Given the description of an element on the screen output the (x, y) to click on. 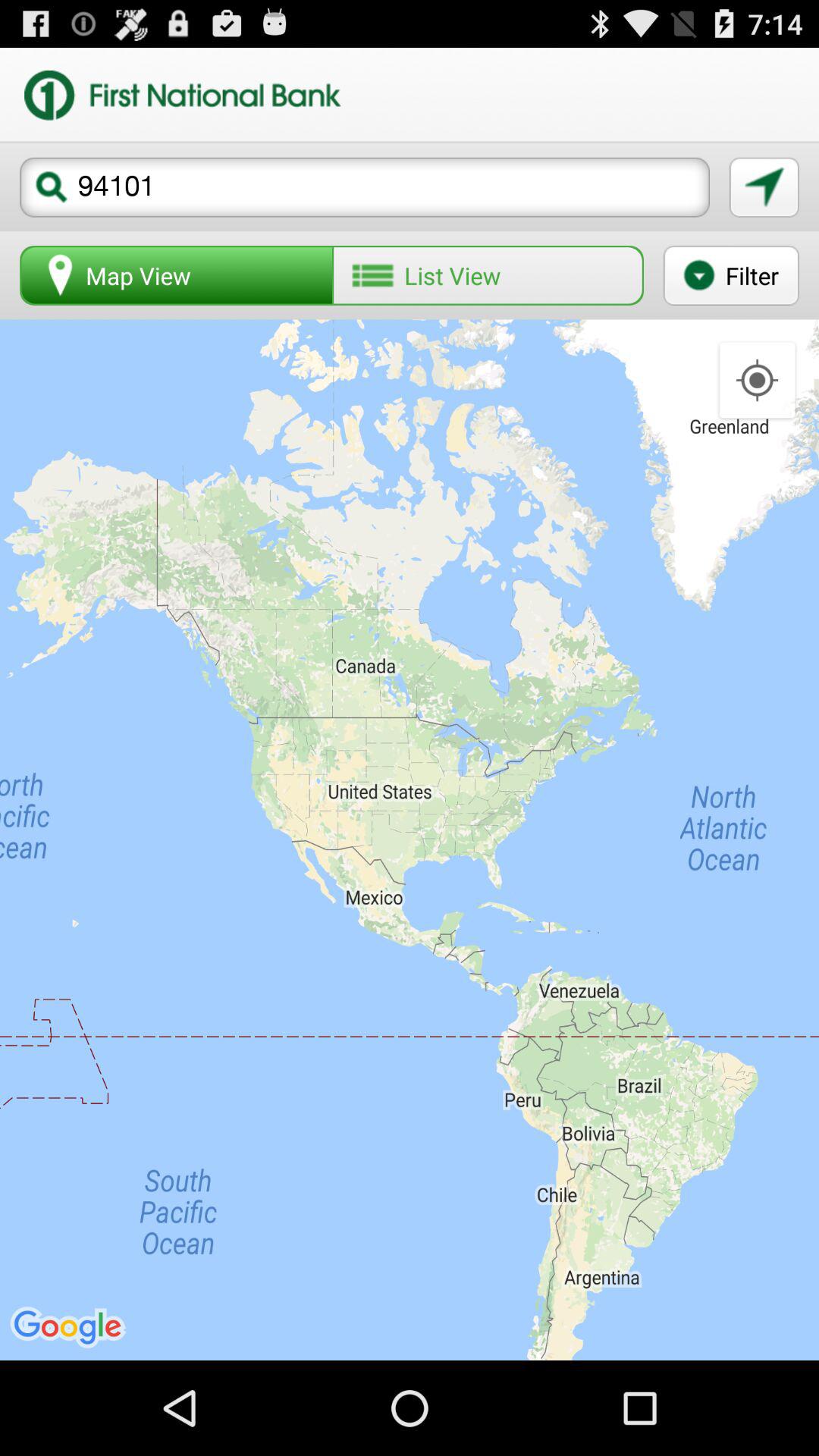
enter button (764, 187)
